Given the description of an element on the screen output the (x, y) to click on. 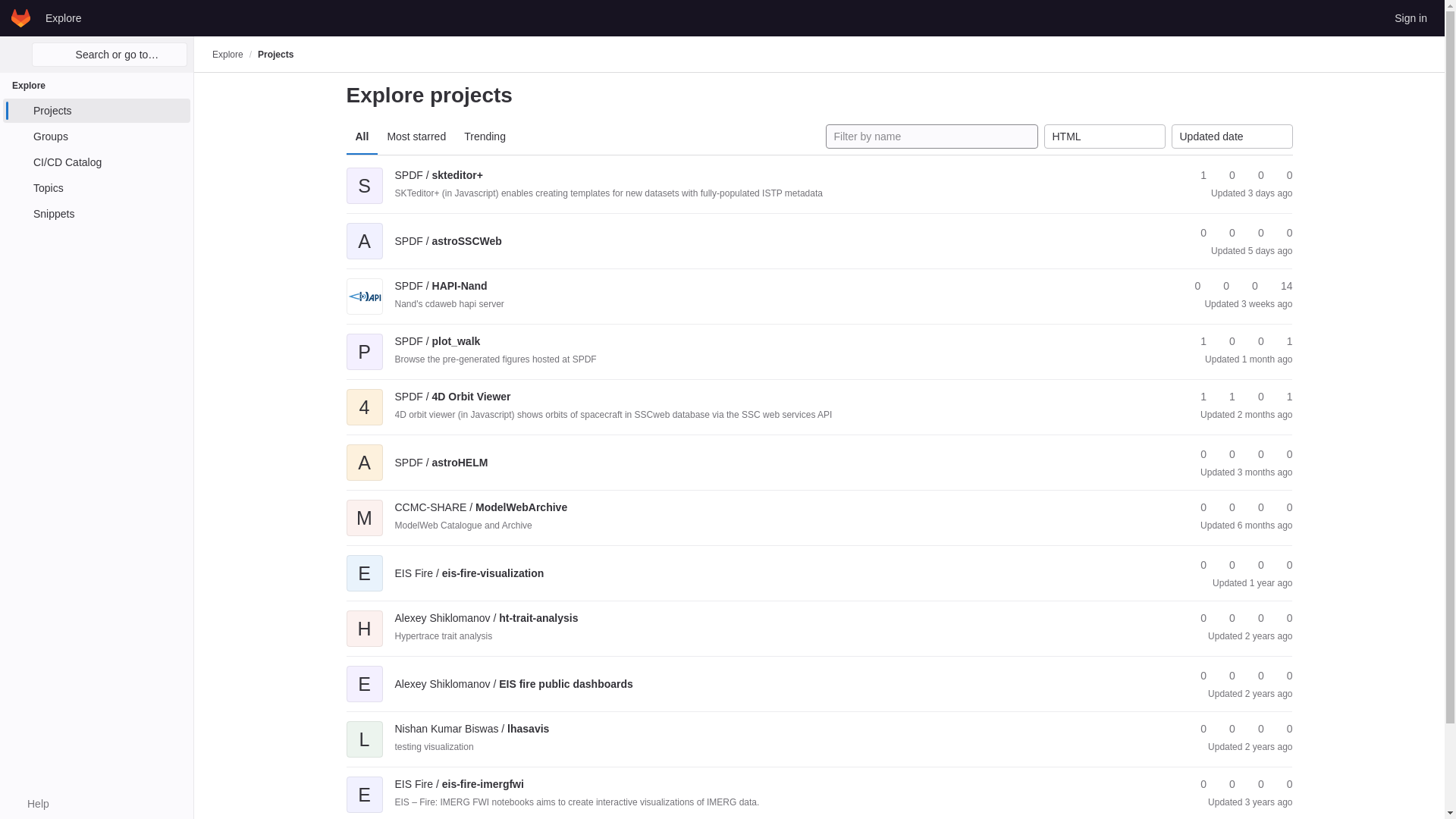
Issues (1282, 175)
Explore (227, 54)
Projects (275, 54)
Stars (1196, 232)
Homepage (20, 17)
Projects (96, 110)
Groups (96, 136)
astroSSCWeb (447, 241)
Issues (1282, 232)
Explore (63, 17)
